Given the description of an element on the screen output the (x, y) to click on. 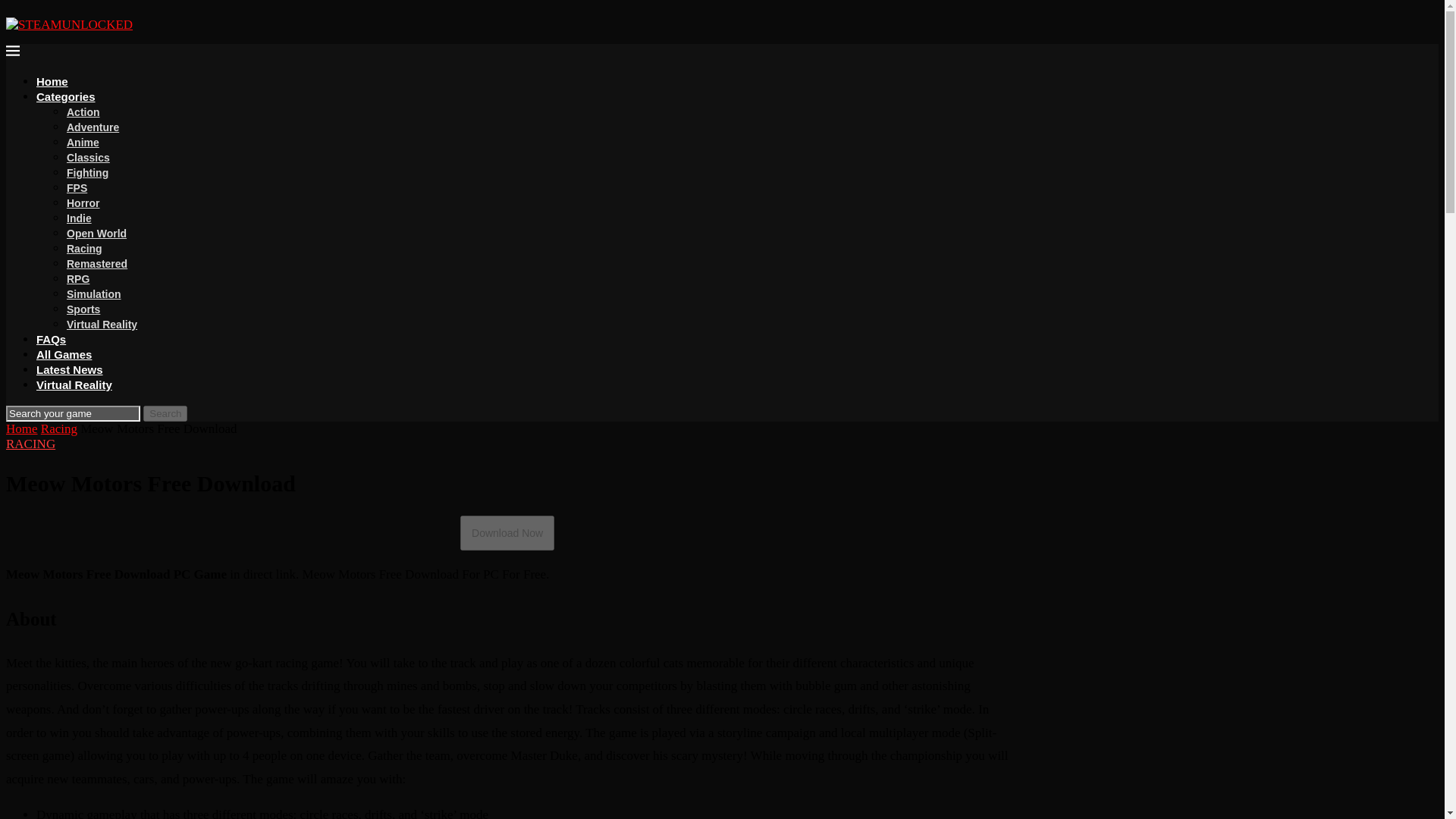
Simulation (93, 294)
FPS (76, 187)
Search (164, 413)
Categories (66, 96)
Racing (58, 428)
Racing (83, 248)
Adventure (92, 127)
FAQs (50, 338)
RPG (77, 278)
Virtual Reality (74, 384)
Remastered (97, 263)
Horror (83, 203)
Sports (83, 309)
Fighting (86, 173)
Open World (96, 233)
